Given the description of an element on the screen output the (x, y) to click on. 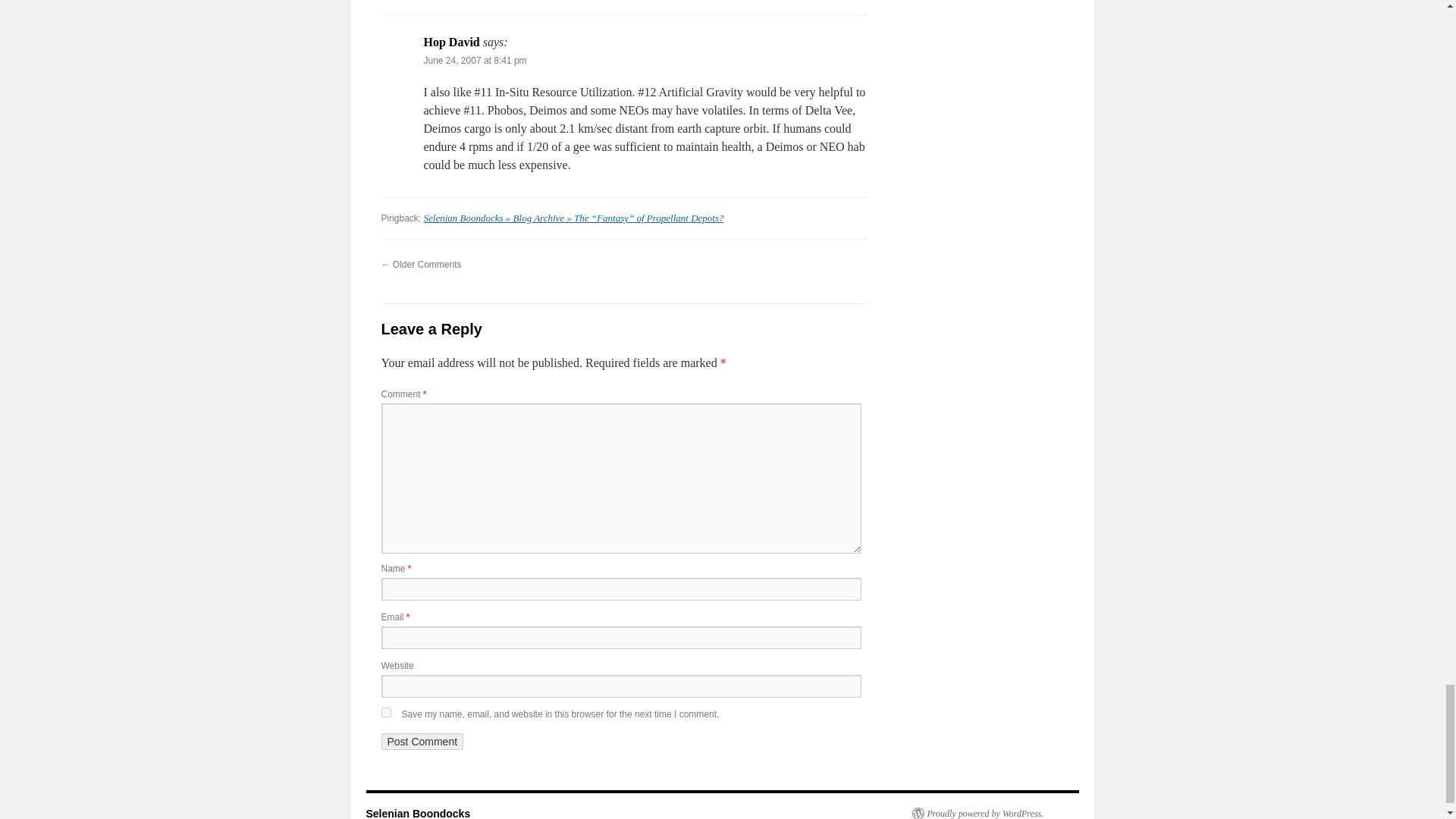
Post Comment (421, 741)
Post Comment (421, 741)
June 24, 2007 at 8:41 pm (474, 60)
yes (385, 712)
